Given the description of an element on the screen output the (x, y) to click on. 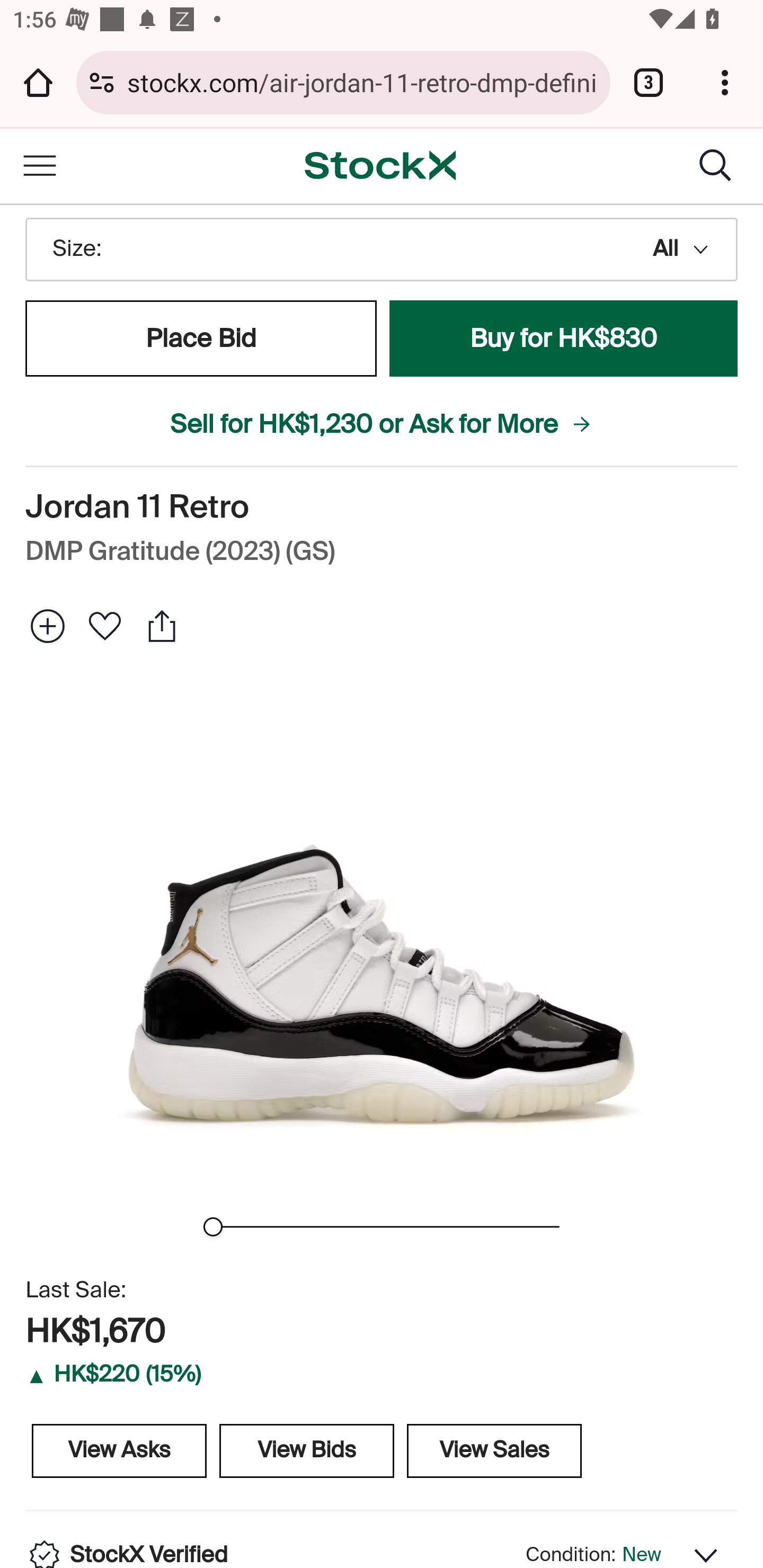
Open the home page (38, 82)
Connection is secure (101, 82)
Switch or close tabs (648, 82)
Customize and control Google Chrome (724, 82)
